Given the description of an element on the screen output the (x, y) to click on. 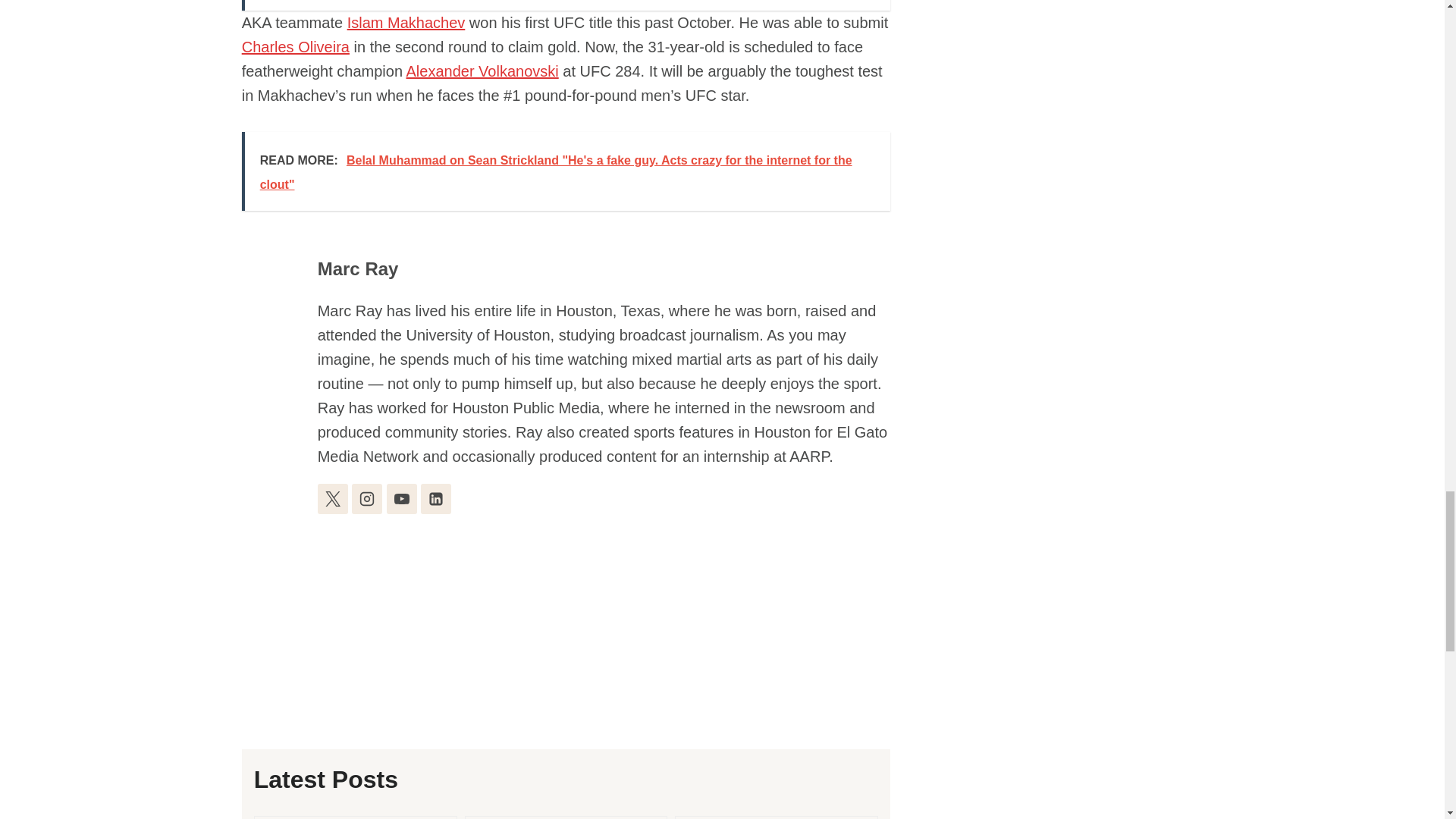
Charles Oliveira (295, 46)
Follow Marc Ray on Linkedin (435, 499)
Alexander Volkanovski (482, 71)
Islam Makhachev (406, 22)
Posts by Marc Ray (357, 268)
Follow Marc Ray on Youtube (401, 499)
Follow Marc Ray on Instagram (366, 499)
Follow Marc Ray on X formerly Twitter (332, 499)
